Given the description of an element on the screen output the (x, y) to click on. 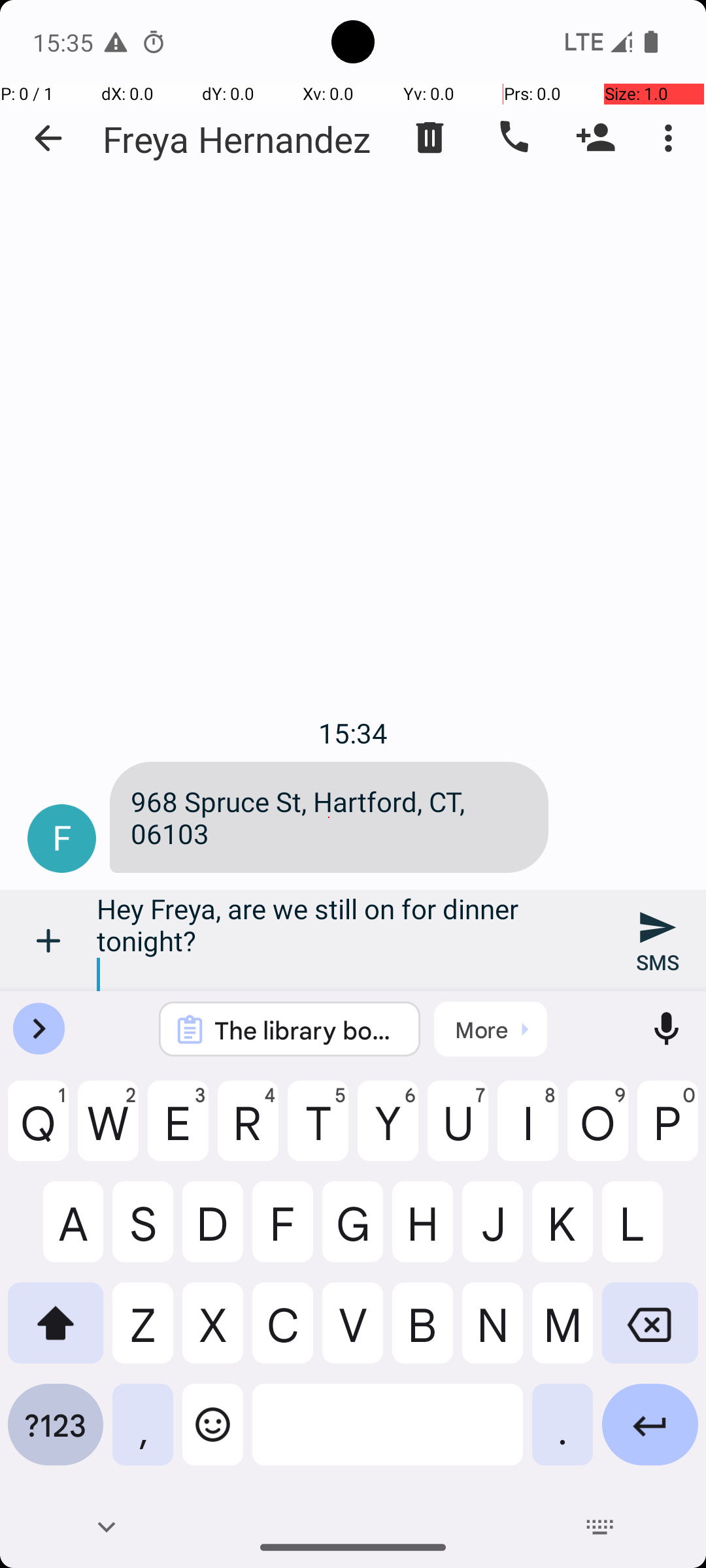
Freya Hernandez Element type: android.widget.TextView (236, 138)
Hey Freya, are we still on for dinner tonight?
 Element type: android.widget.EditText (352, 940)
968 Spruce St, Hartford, CT, 06103 Element type: android.widget.TextView (328, 816)
The library book is due back on the 15th. Element type: android.widget.TextView (306, 1029)
